Given the description of an element on the screen output the (x, y) to click on. 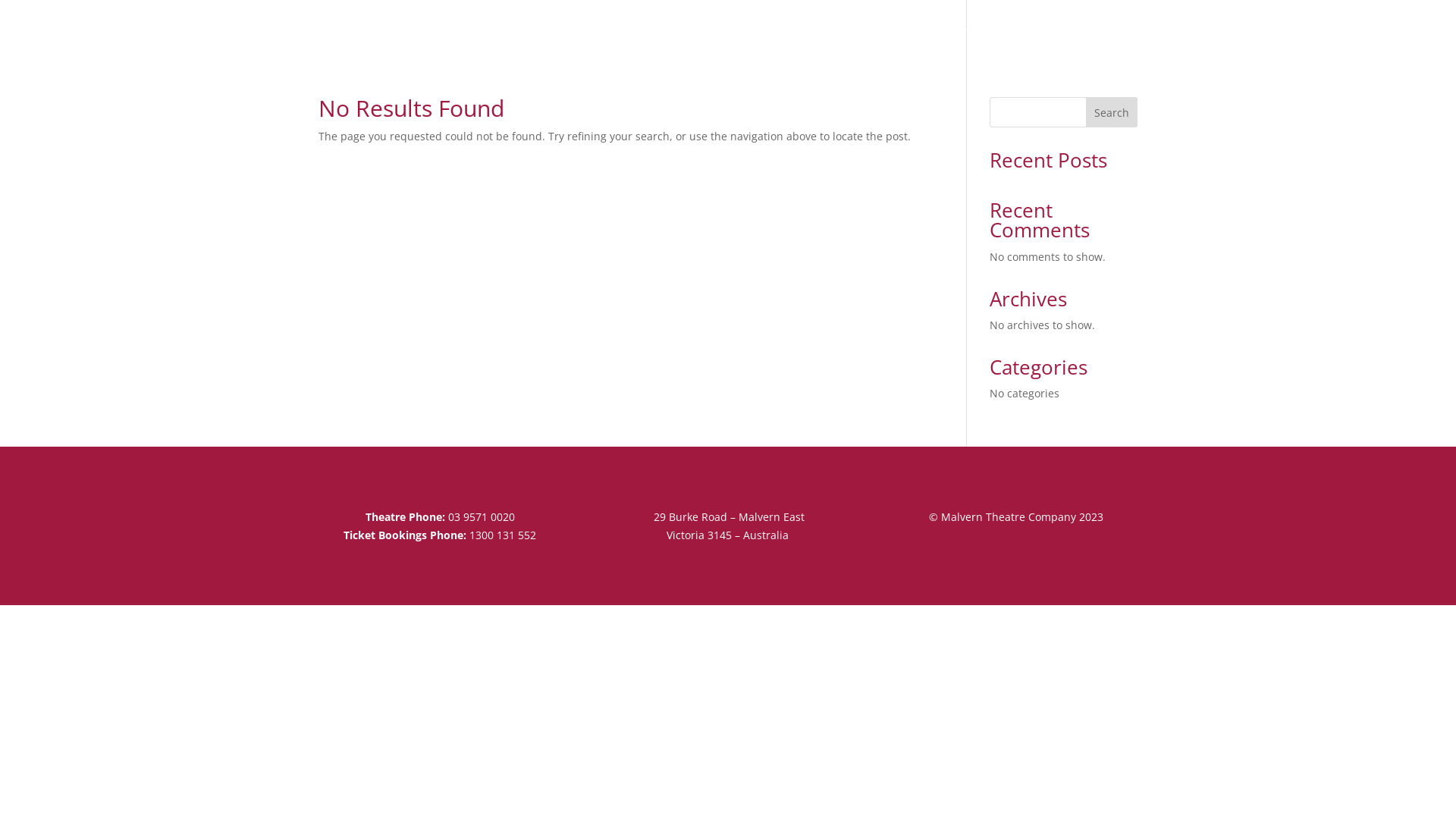
Auditions Element type: text (980, 37)
Home Element type: text (702, 37)
1300 131 552 Element type: text (502, 534)
Contact Element type: text (1116, 37)
Booking Element type: text (847, 37)
Volunteer Element type: text (1050, 37)
About Element type: text (911, 37)
Search Element type: text (1111, 112)
03 9571 0020 Element type: text (481, 516)
